Given the description of an element on the screen output the (x, y) to click on. 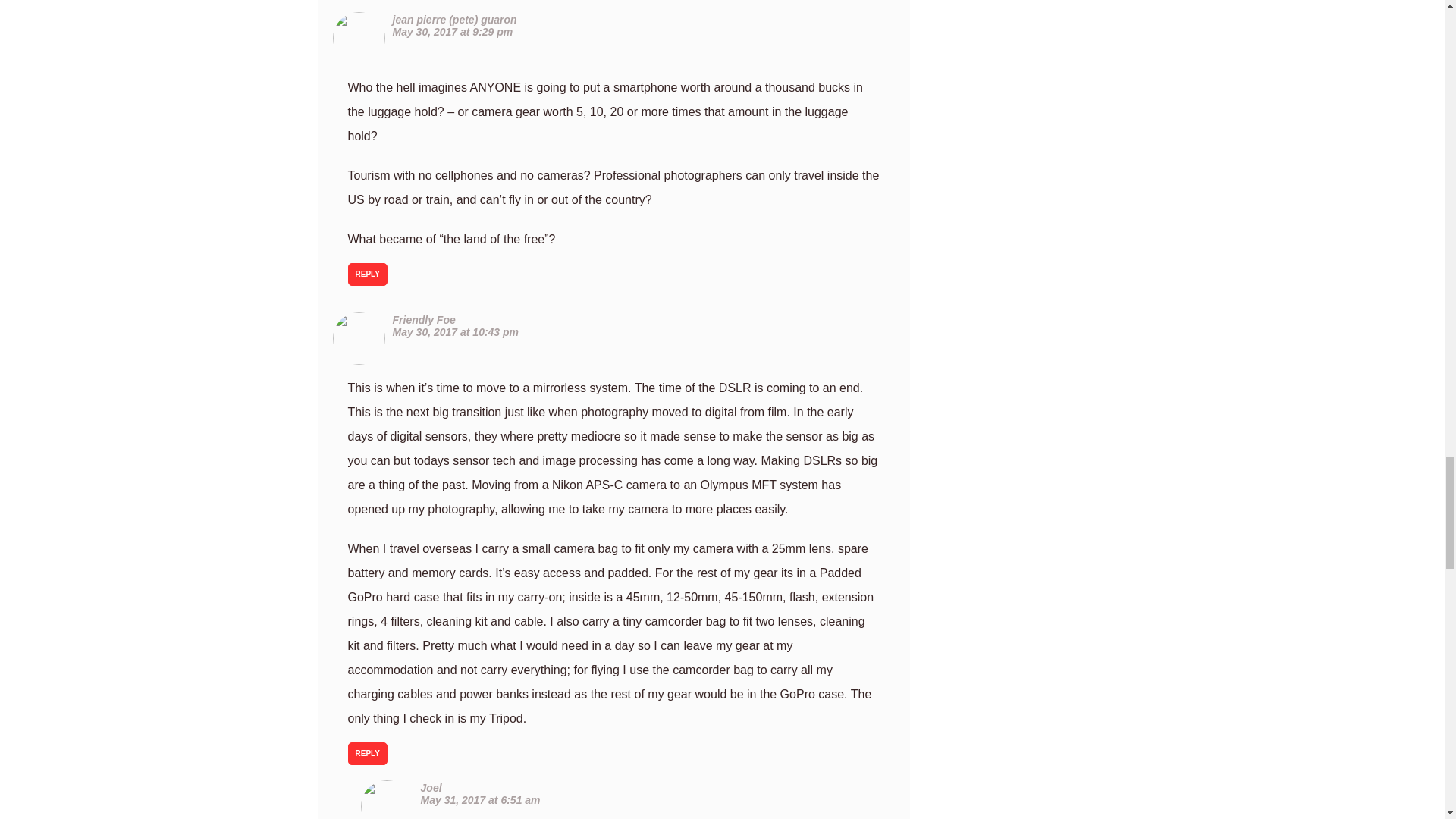
REPLY (367, 753)
May 30, 2017 at 9:29 pm (453, 31)
REPLY (367, 273)
